Given the description of an element on the screen output the (x, y) to click on. 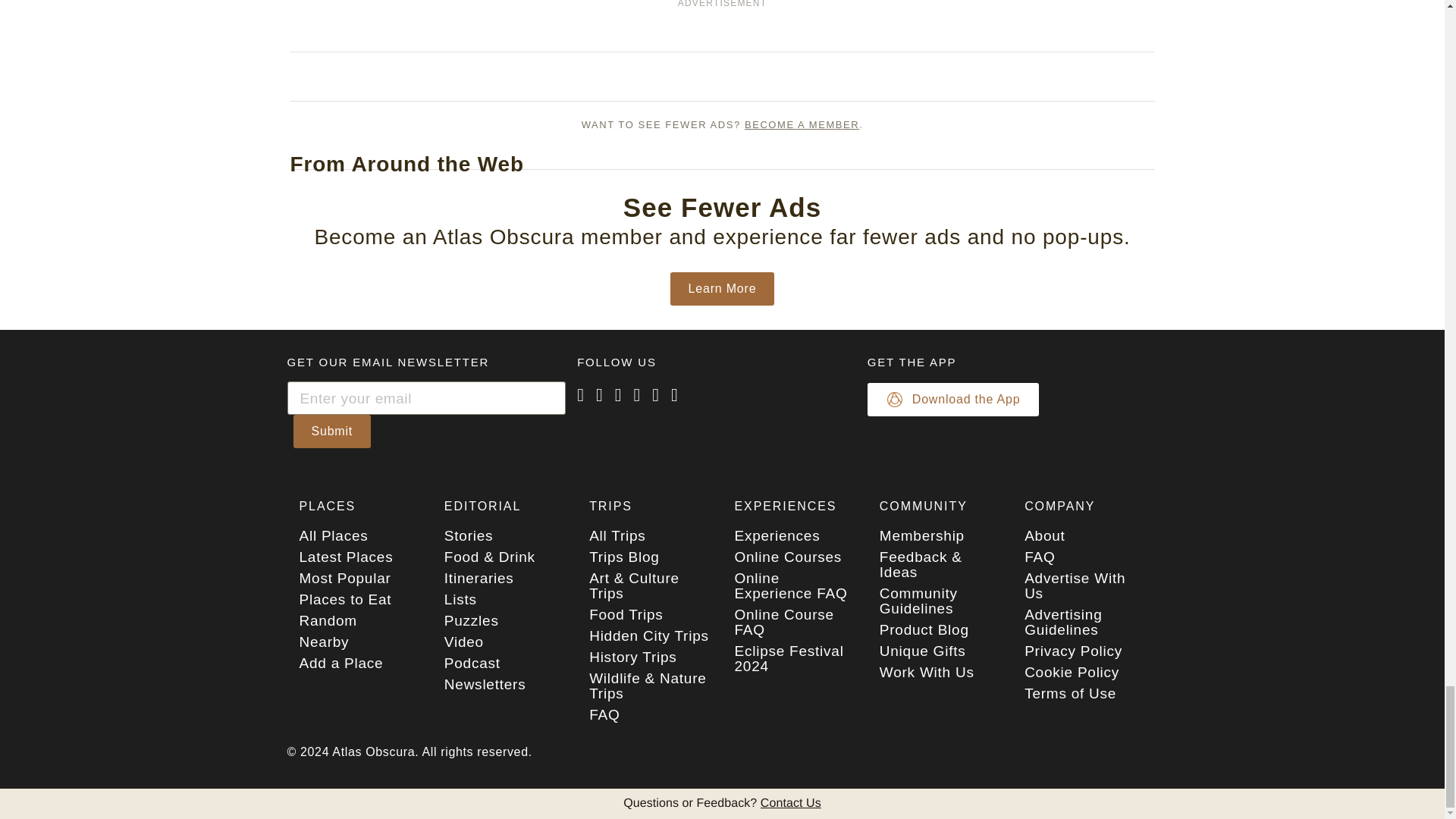
Submit (331, 430)
